Given the description of an element on the screen output the (x, y) to click on. 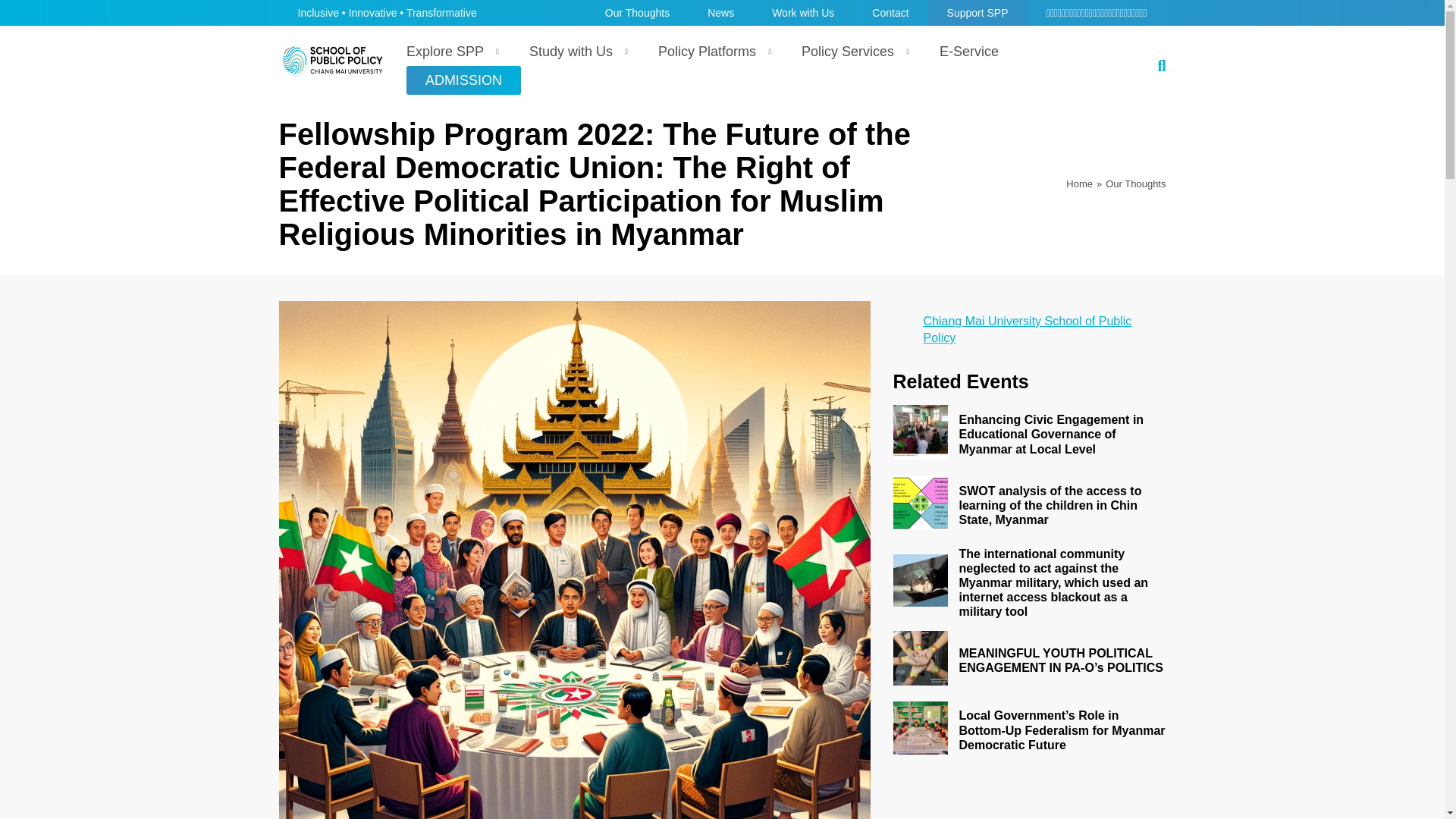
Study with Us (575, 51)
News (720, 12)
Explore SPP (449, 51)
Policy Platforms (711, 51)
Contact (890, 12)
ADMISSION (463, 80)
Home (1079, 183)
Our Thoughts (1135, 183)
Support SPP (977, 12)
E-Service (968, 51)
Policy Services (851, 51)
Work with Us (802, 12)
Our Thoughts (637, 12)
